Given the description of an element on the screen output the (x, y) to click on. 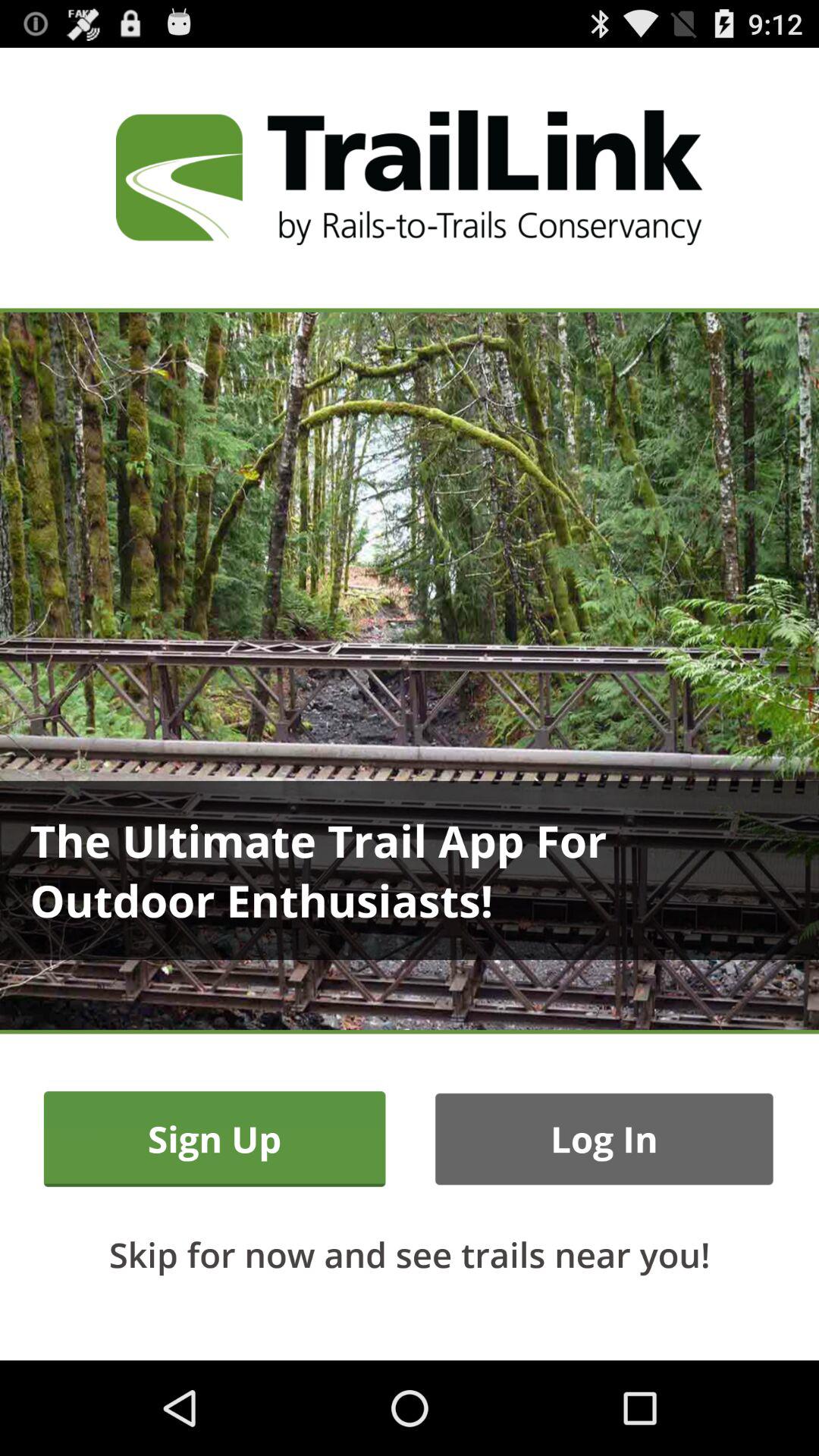
press skip for now icon (409, 1254)
